Given the description of an element on the screen output the (x, y) to click on. 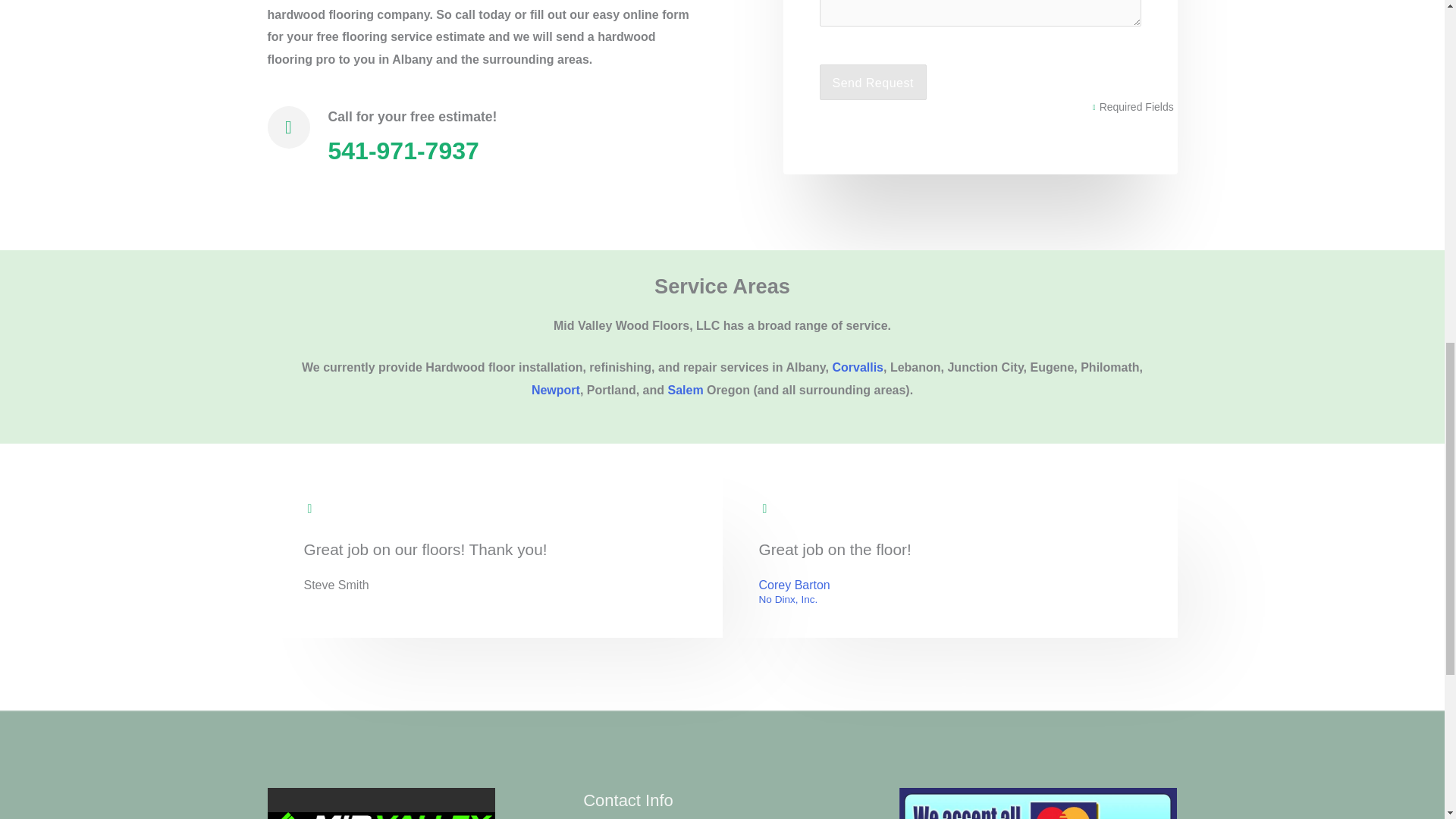
Corey Barton (793, 585)
No Dinx, Inc. (793, 599)
Corvallis (857, 367)
Newport (555, 390)
Salem (684, 390)
Send Request (872, 82)
